Given the description of an element on the screen output the (x, y) to click on. 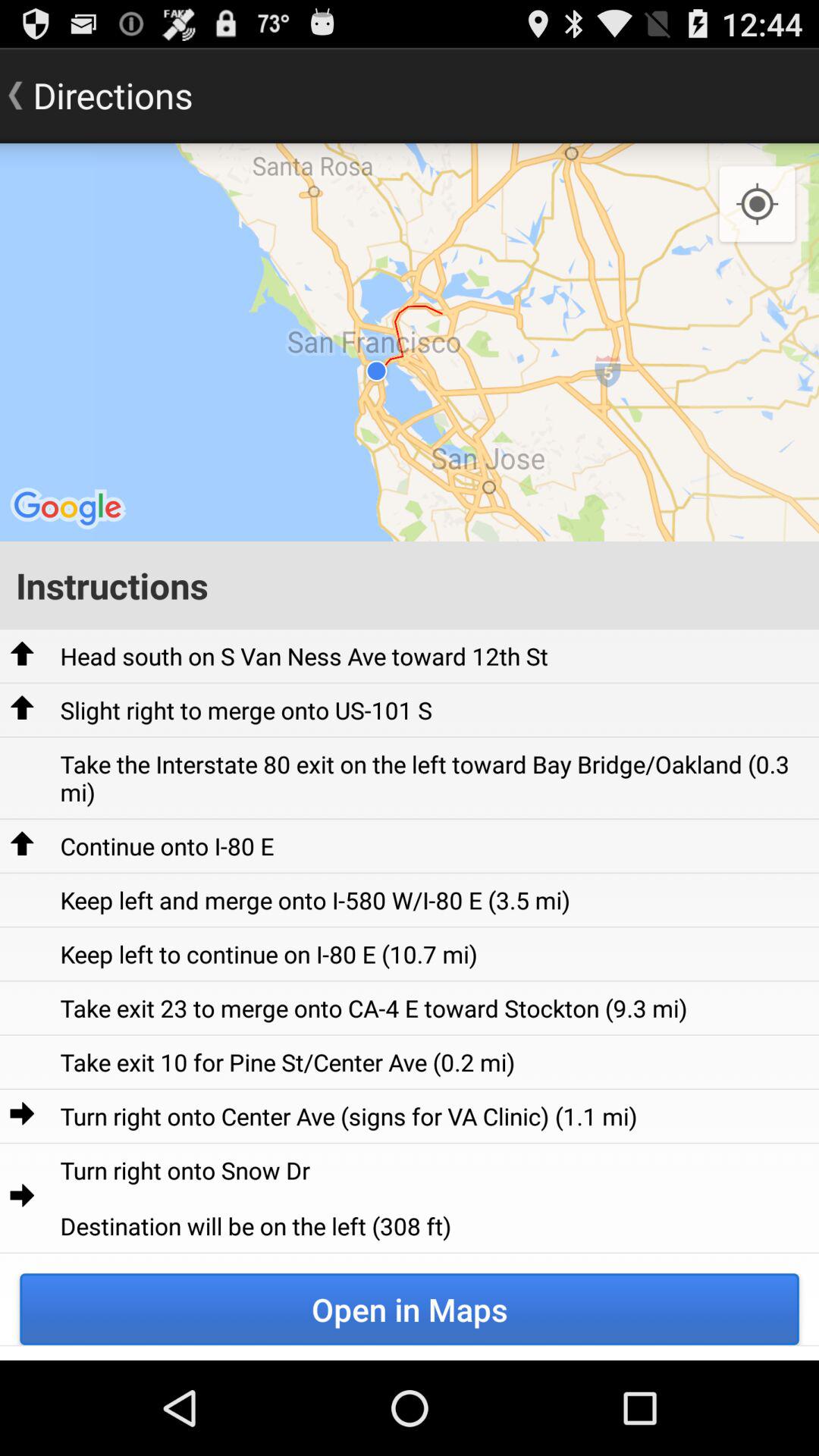
tap the icon above the instructions icon (757, 204)
